Given the description of an element on the screen output the (x, y) to click on. 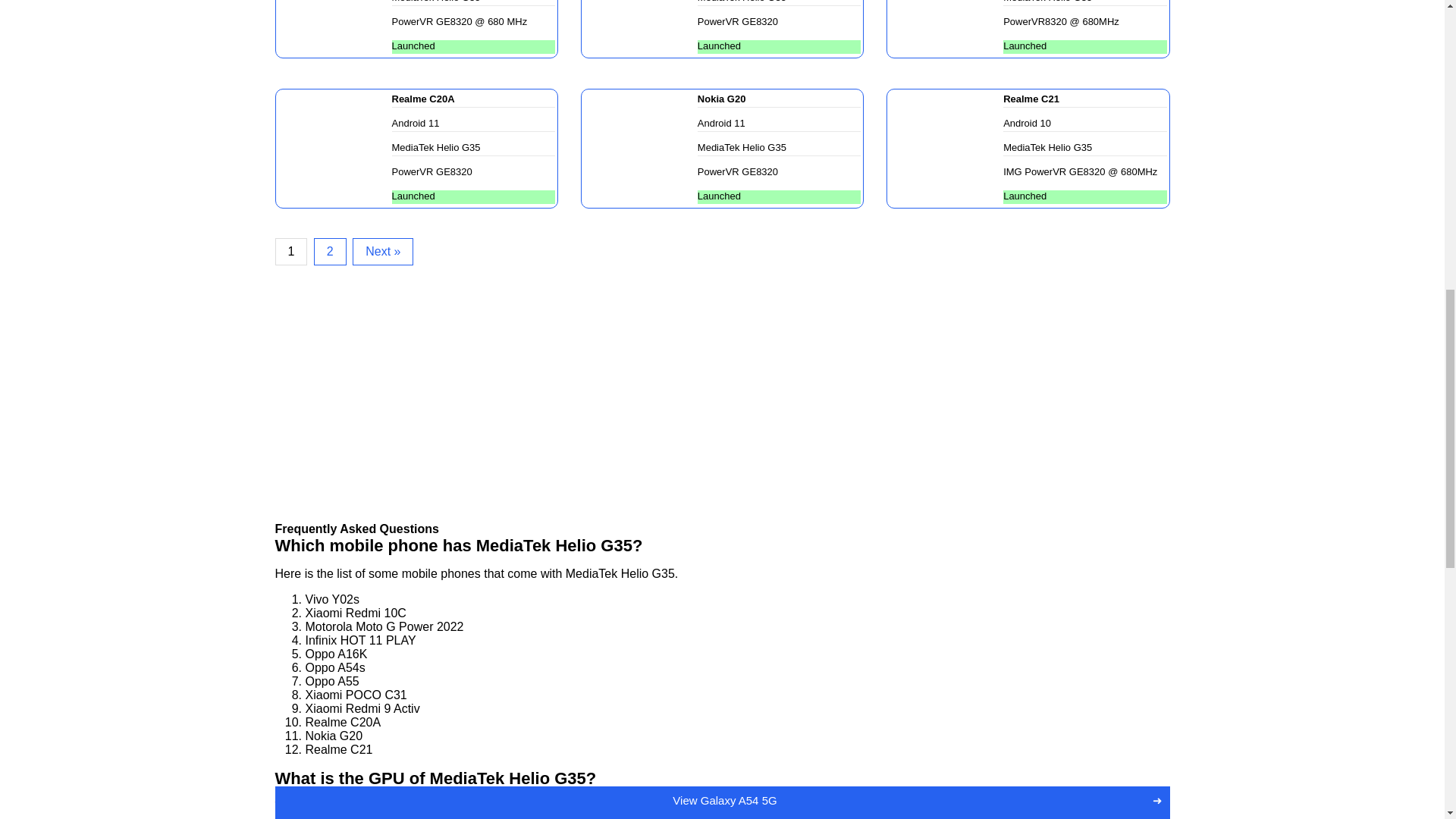
Xiaomi POCO C31 Price, Full Specs and Release Date (640, 27)
Nokia G20 Price, Full Specs and Release Date (640, 147)
Xiaomi Redmi 9 Activ Price, Full Specs and Release Date (946, 27)
View Galaxy A54 5G (724, 236)
Oppo A55 Price, Full Specs and Release Date (334, 27)
2 (330, 251)
Realme C20A Price, Full Specs and Release Date (334, 147)
